Given the description of an element on the screen output the (x, y) to click on. 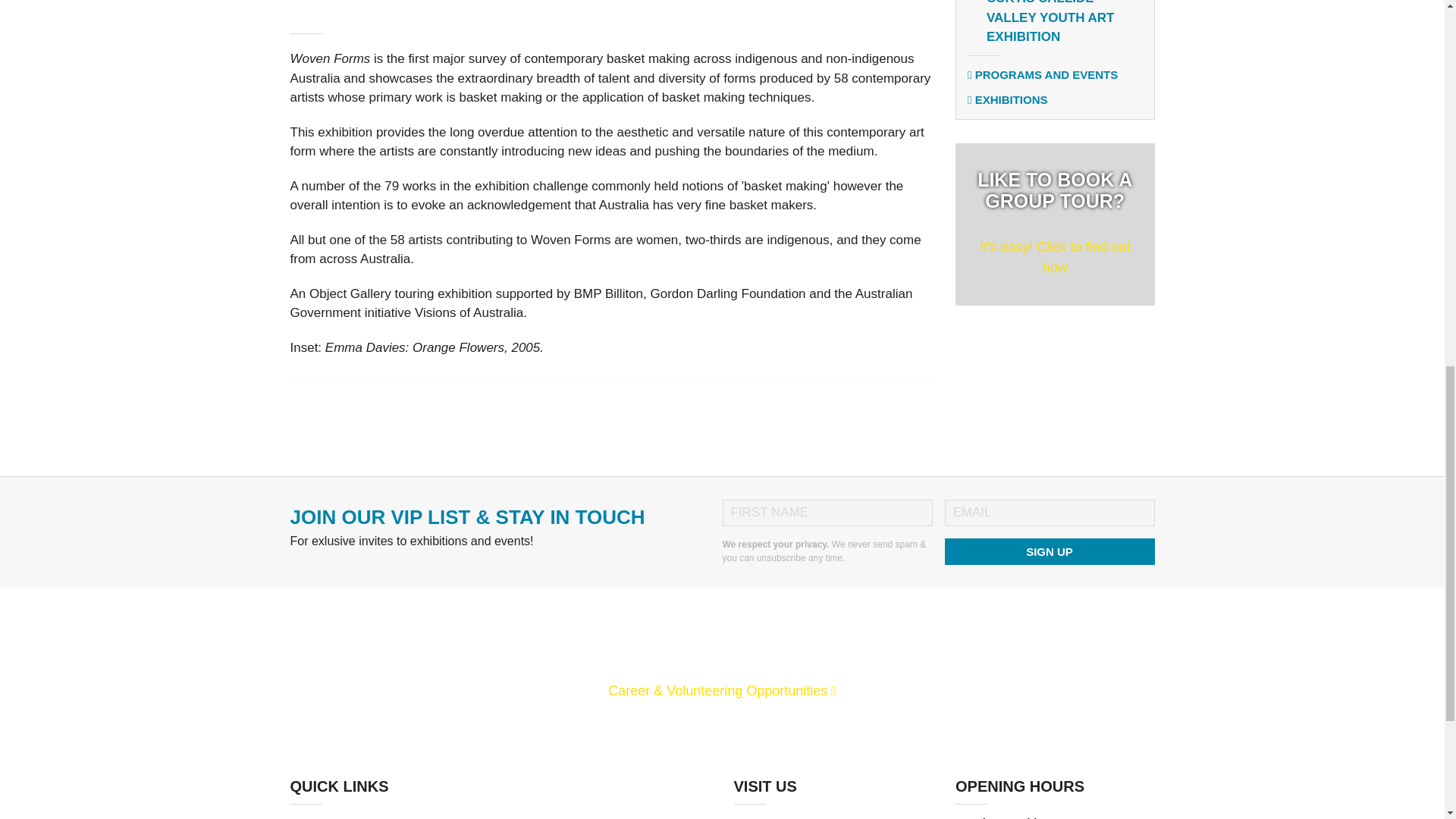
Education (330, 818)
Sign up (1049, 551)
Support Us (474, 818)
PROGRAMS AND EVENTS (1043, 74)
Sign up (1049, 551)
EXHIBITIONS (1054, 223)
